Given the description of an element on the screen output the (x, y) to click on. 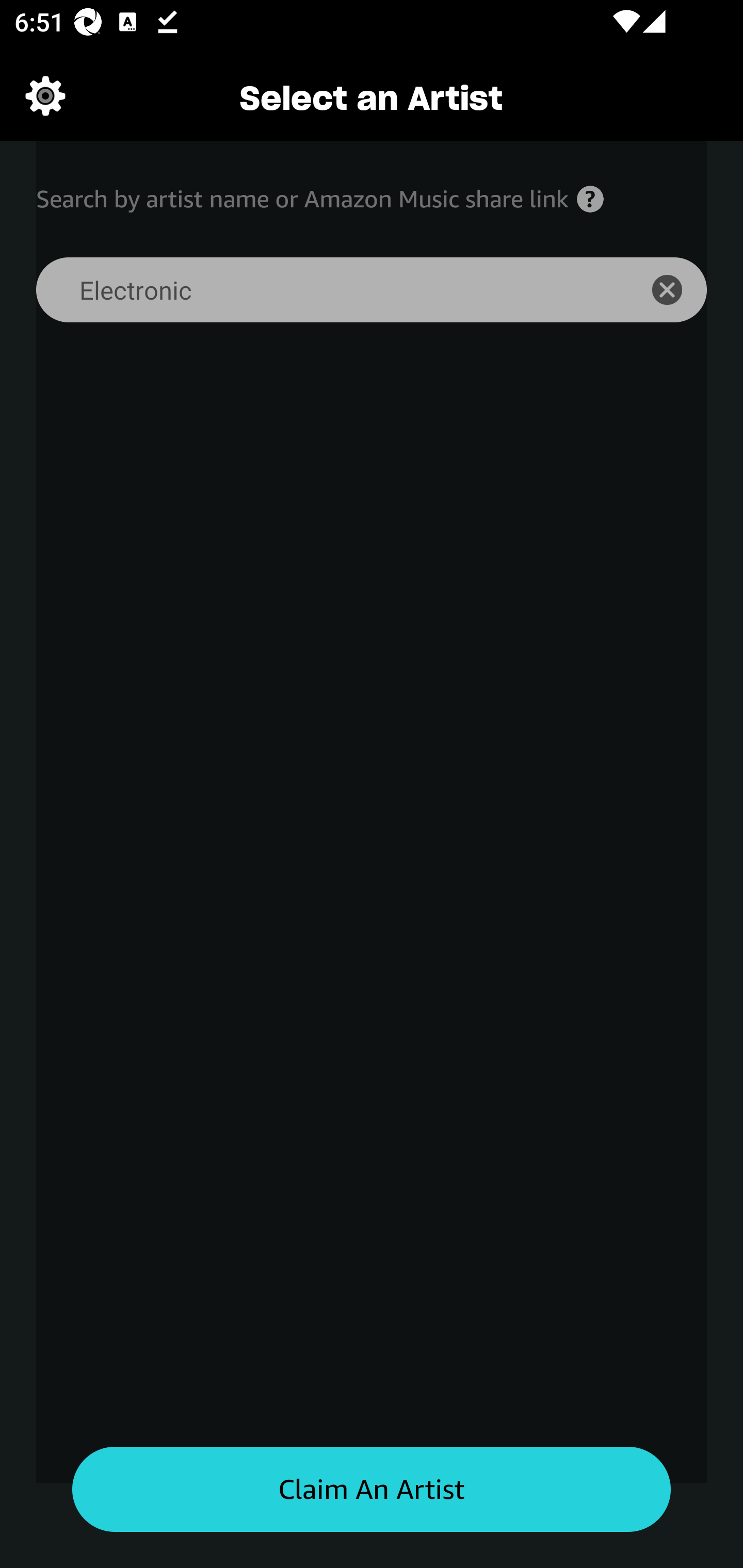
Help  icon (589, 199)
Electronic Search for an artist search bar (324, 290)
 icon (677, 290)
Claim an artist button Claim An Artist (371, 1489)
